Given the description of an element on the screen output the (x, y) to click on. 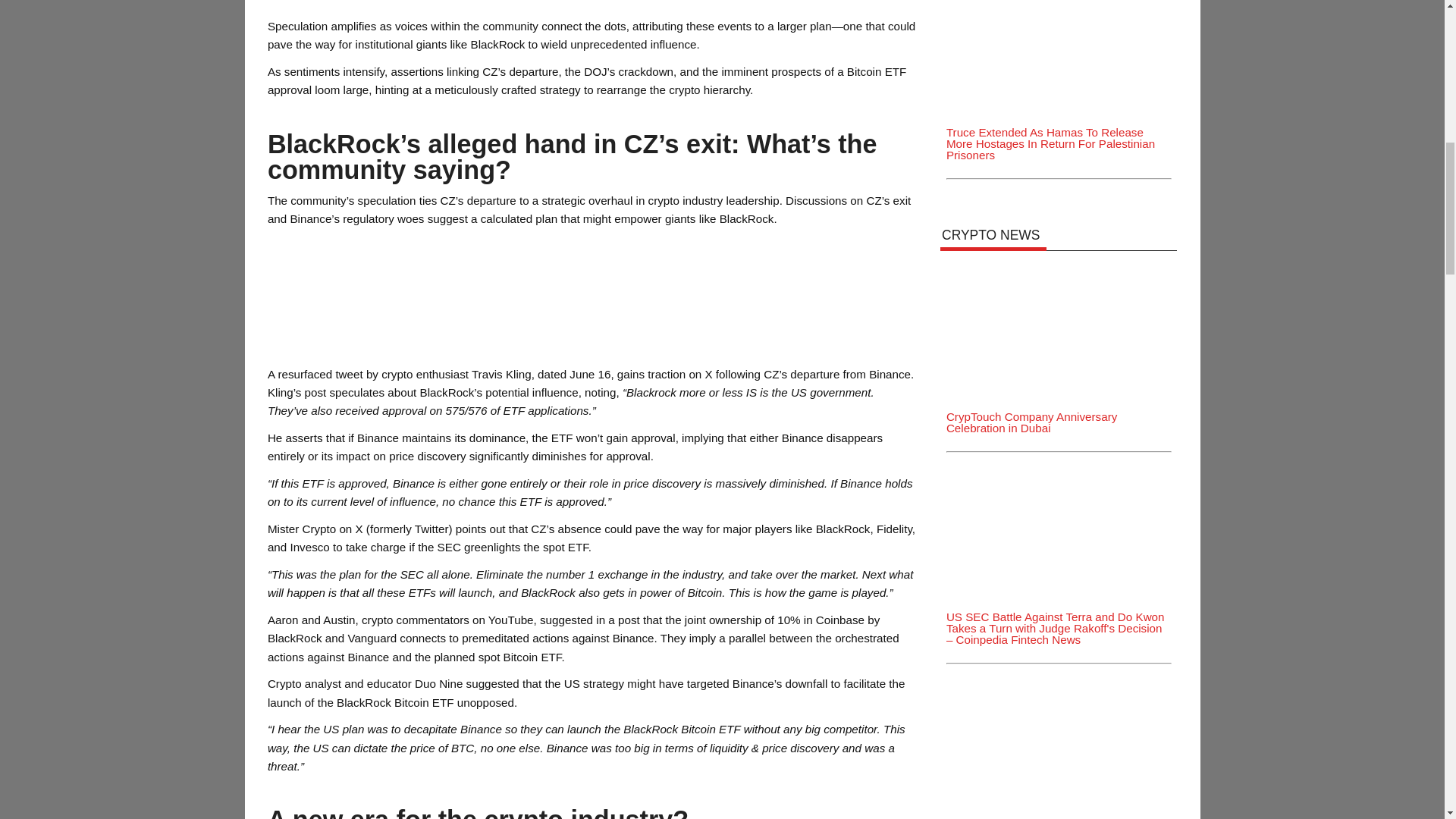
CrypTouch Company Anniversary Celebration in Dubai (1059, 324)
CrypTouch Company Anniversary Celebration in Dubai (1059, 267)
CrypTouch Company Anniversary Celebration in Dubai (1031, 422)
